Given the description of an element on the screen output the (x, y) to click on. 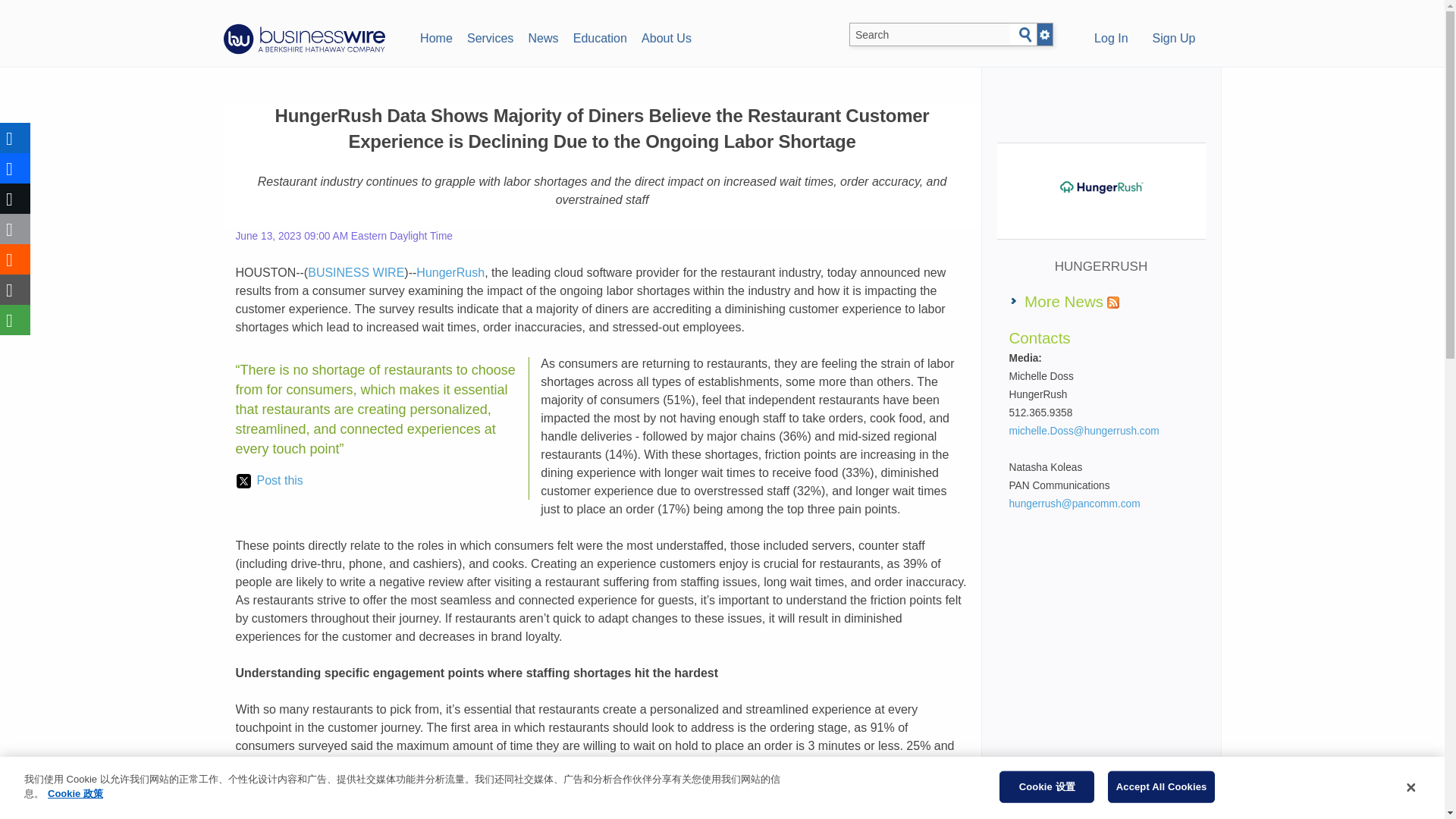
Post this (269, 480)
Education (599, 36)
More Options (15, 319)
Email This (15, 228)
Facebook (15, 168)
Home (436, 36)
Search BusinessWire.com (930, 34)
Search (1025, 34)
News (543, 36)
RSS feed for HungerRush (1112, 302)
